Given the description of an element on the screen output the (x, y) to click on. 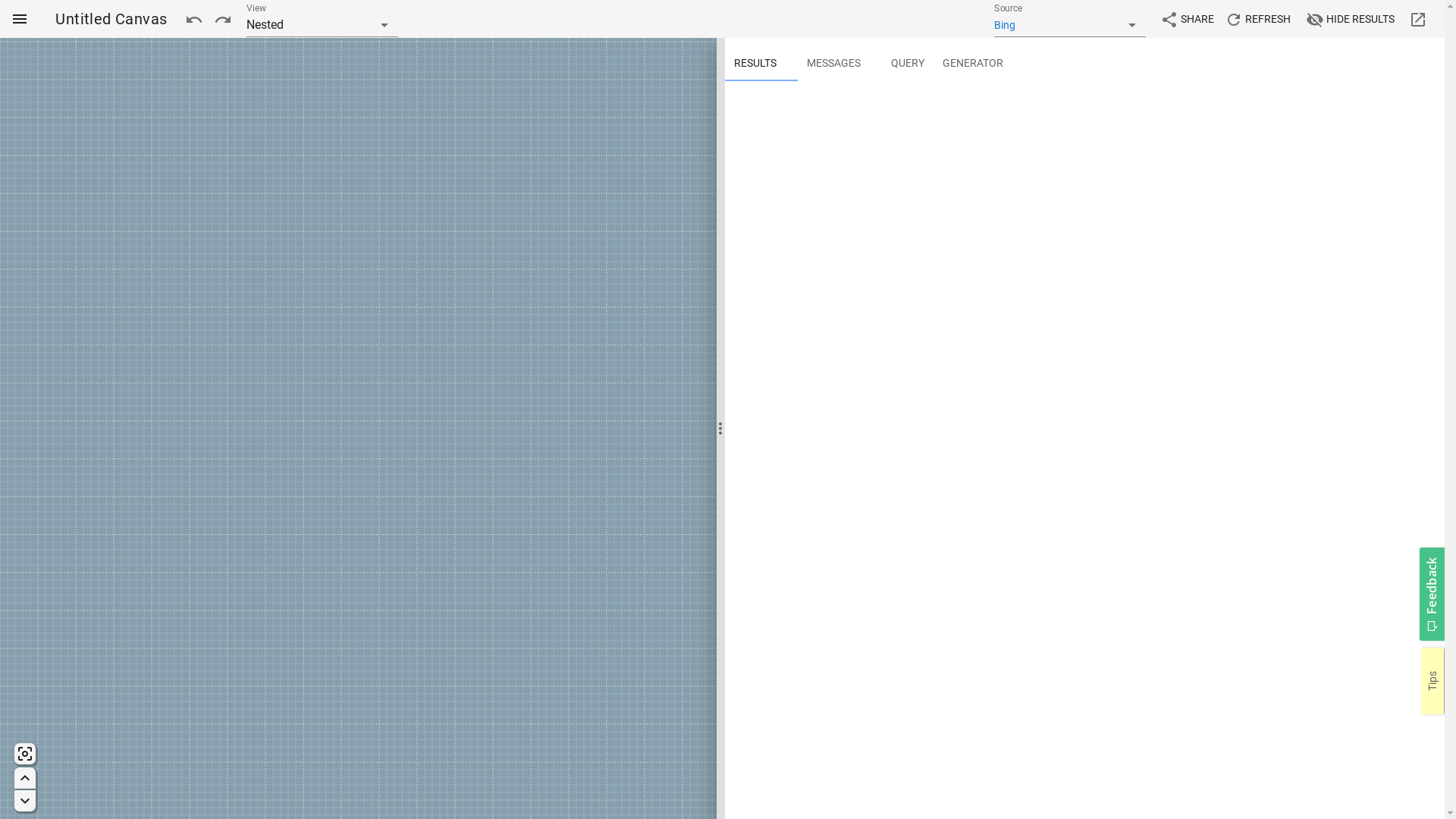
expand_less Element type: text (23, 777)
center_focus_weak Element type: text (23, 753)
RESULTS Element type: text (754, 62)
MESSAGES Element type: text (833, 62)
GENERATOR Element type: text (971, 62)
QUERY Element type: text (906, 62)
expand_more Element type: text (23, 800)
menu Element type: text (19, 18)
